Given the description of an element on the screen output the (x, y) to click on. 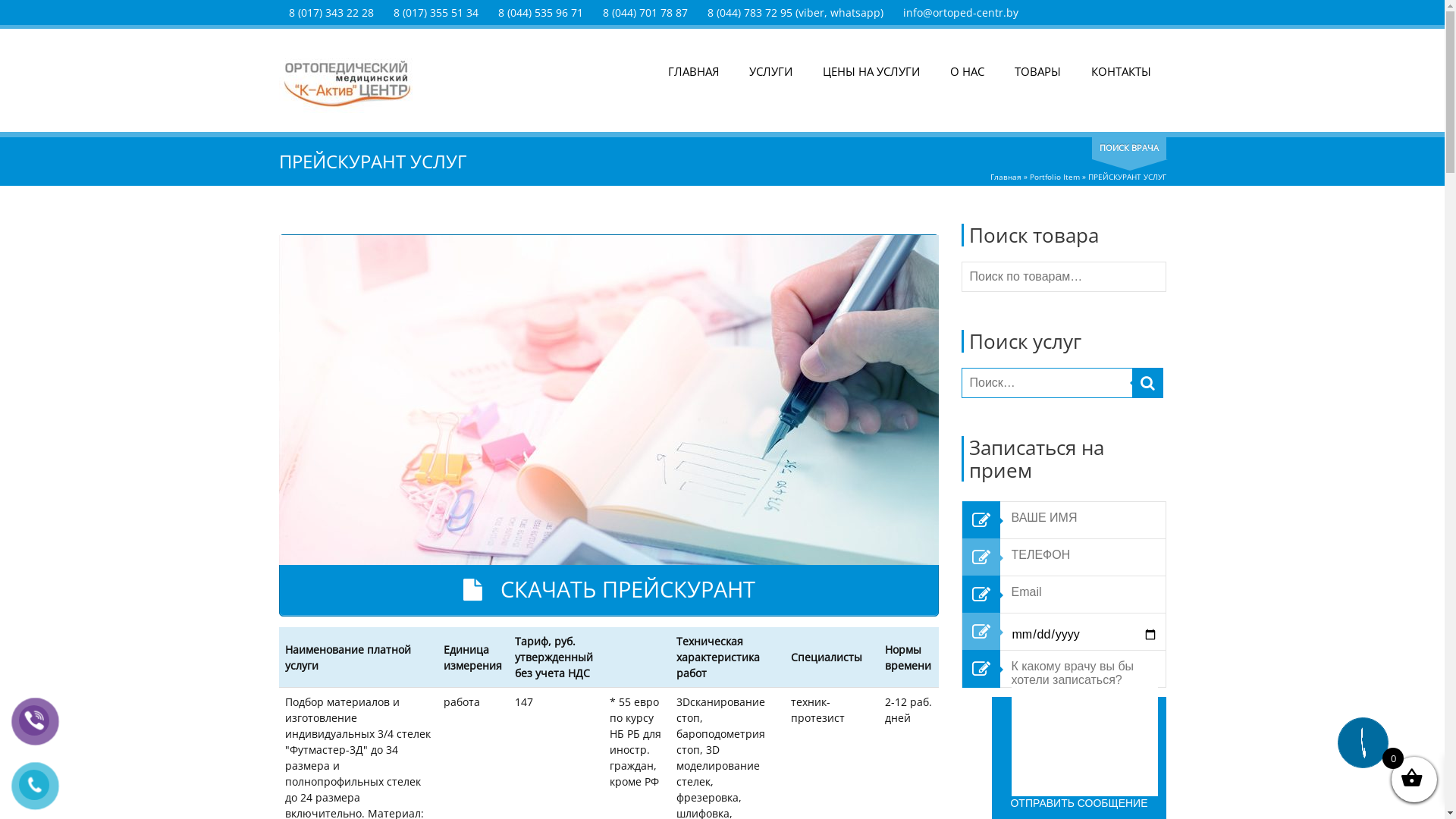
8 (017) 343 22 28 Element type: text (330, 12)
8 (044) 535 96 71 Element type: text (539, 12)
8 (017) 355 51 34 Element type: text (434, 12)
8 (044) 701 78 87 Element type: text (644, 12)
info@ortoped-centr.by Element type: text (959, 12)
8 (044) 783 72 95 (viber, whatsapp) Element type: text (794, 12)
Portfolio Item Element type: text (1054, 176)
